Given the description of an element on the screen output the (x, y) to click on. 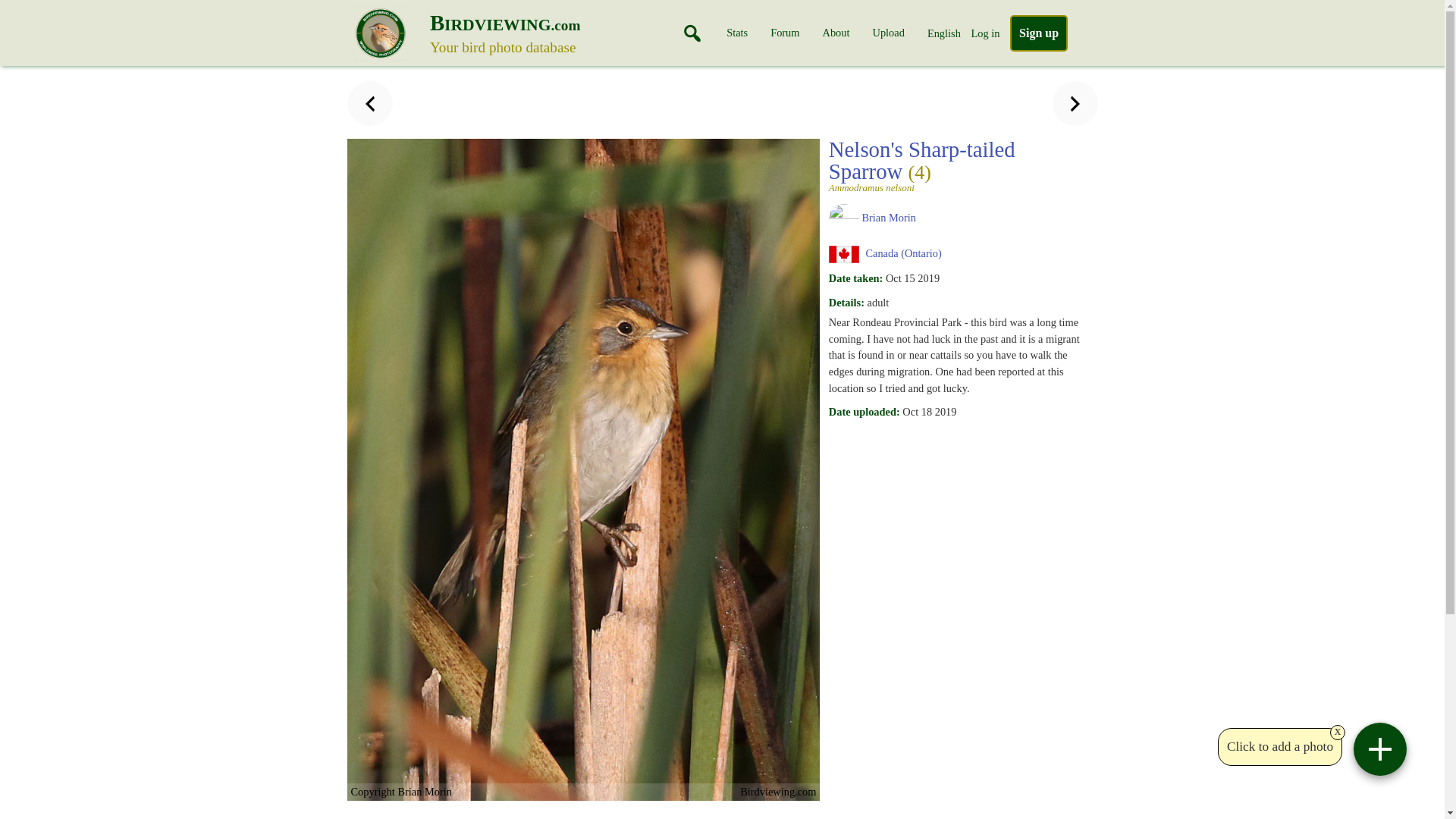
Brian Morin (888, 217)
Sign up (543, 36)
English (1038, 33)
Sign up (943, 33)
Upload (1038, 33)
Forum (888, 33)
About (784, 33)
Stats (836, 33)
Log in (737, 33)
